Given the description of an element on the screen output the (x, y) to click on. 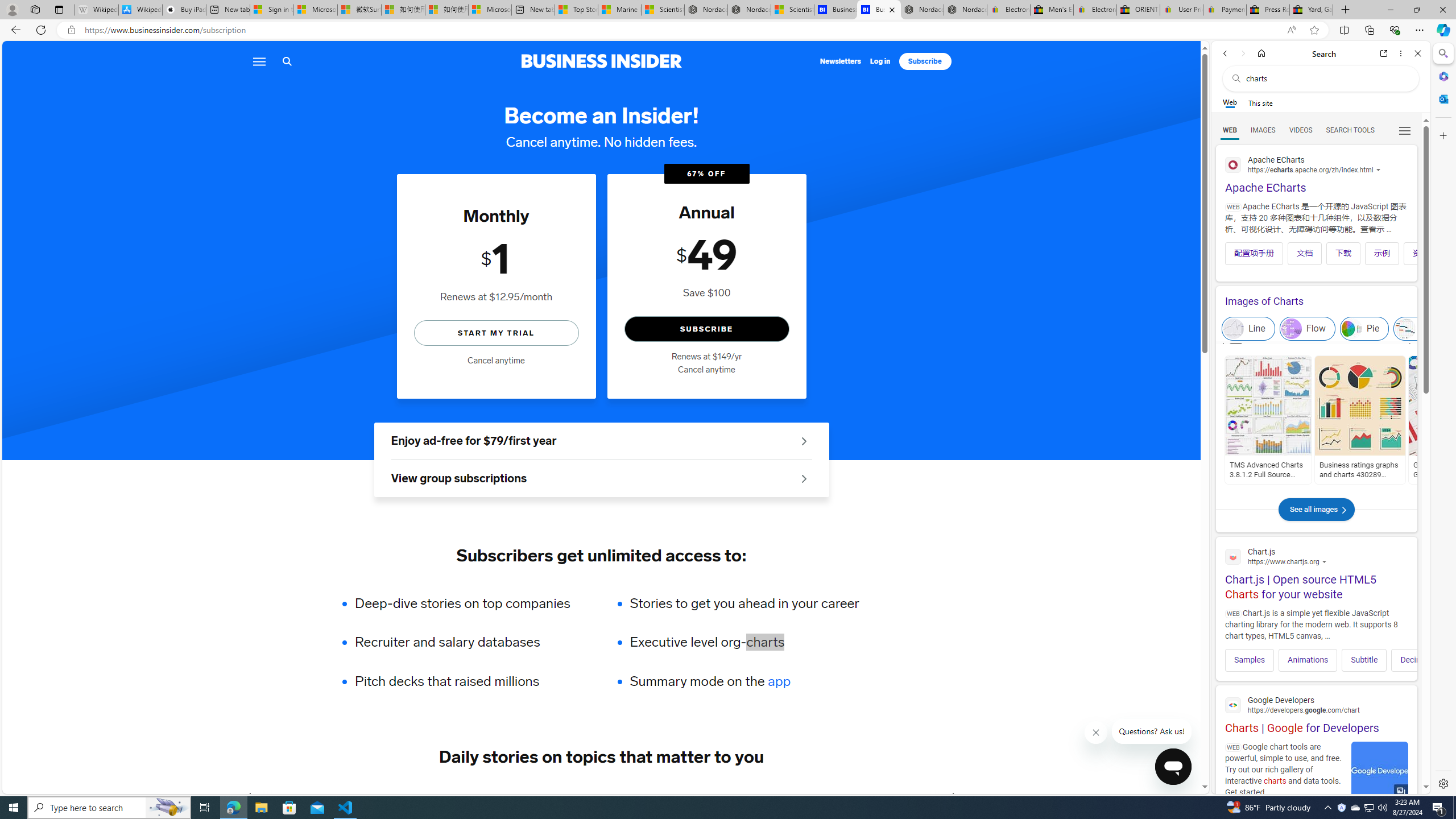
Images of Charts (1315, 300)
Forward (954, 797)
This site scope (1259, 102)
Microsoft account | Account Checkup (489, 9)
Business Insider logo (601, 60)
Newsletters (840, 61)
Subtitle (1363, 659)
Search Filter, IMAGES (1262, 129)
Yard, Garden & Outdoor Living (1311, 9)
RETAIL (422, 796)
Payments Terms of Use | eBay.com (1224, 9)
